Given the description of an element on the screen output the (x, y) to click on. 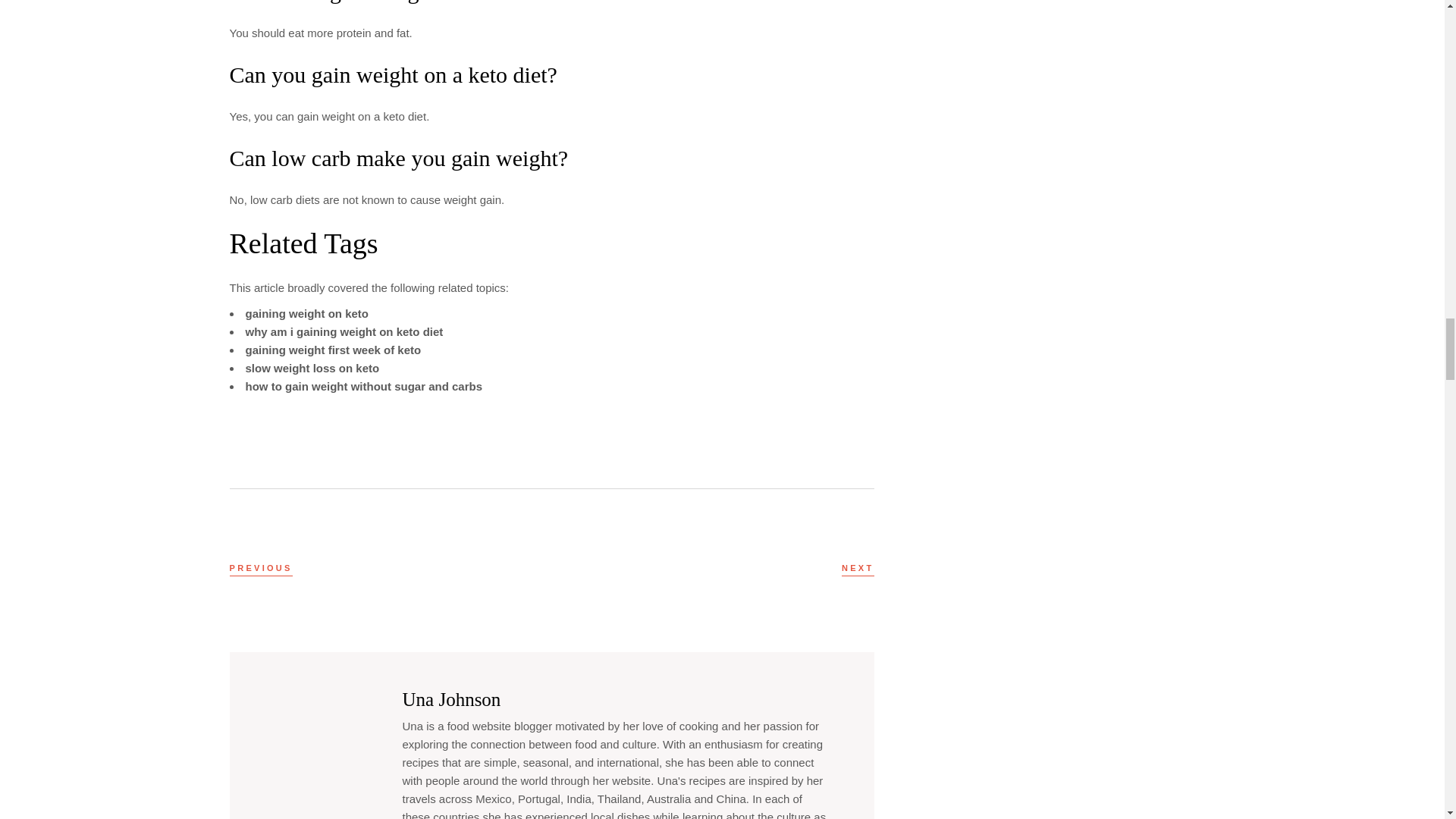
NEXT (858, 568)
PREVIOUS (260, 568)
Una Johnson (450, 699)
